Given the description of an element on the screen output the (x, y) to click on. 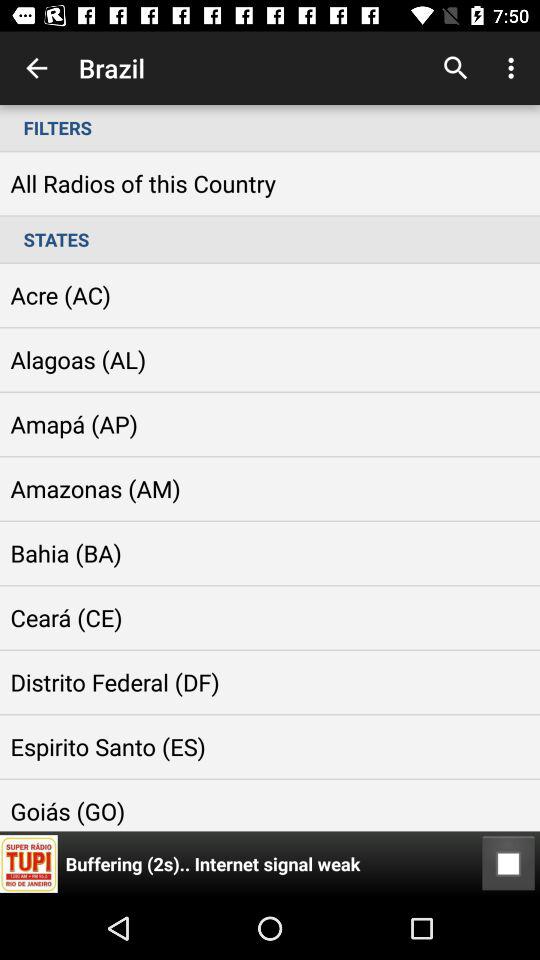
turn on the icon next to buffering 2s internet icon (508, 863)
